Given the description of an element on the screen output the (x, y) to click on. 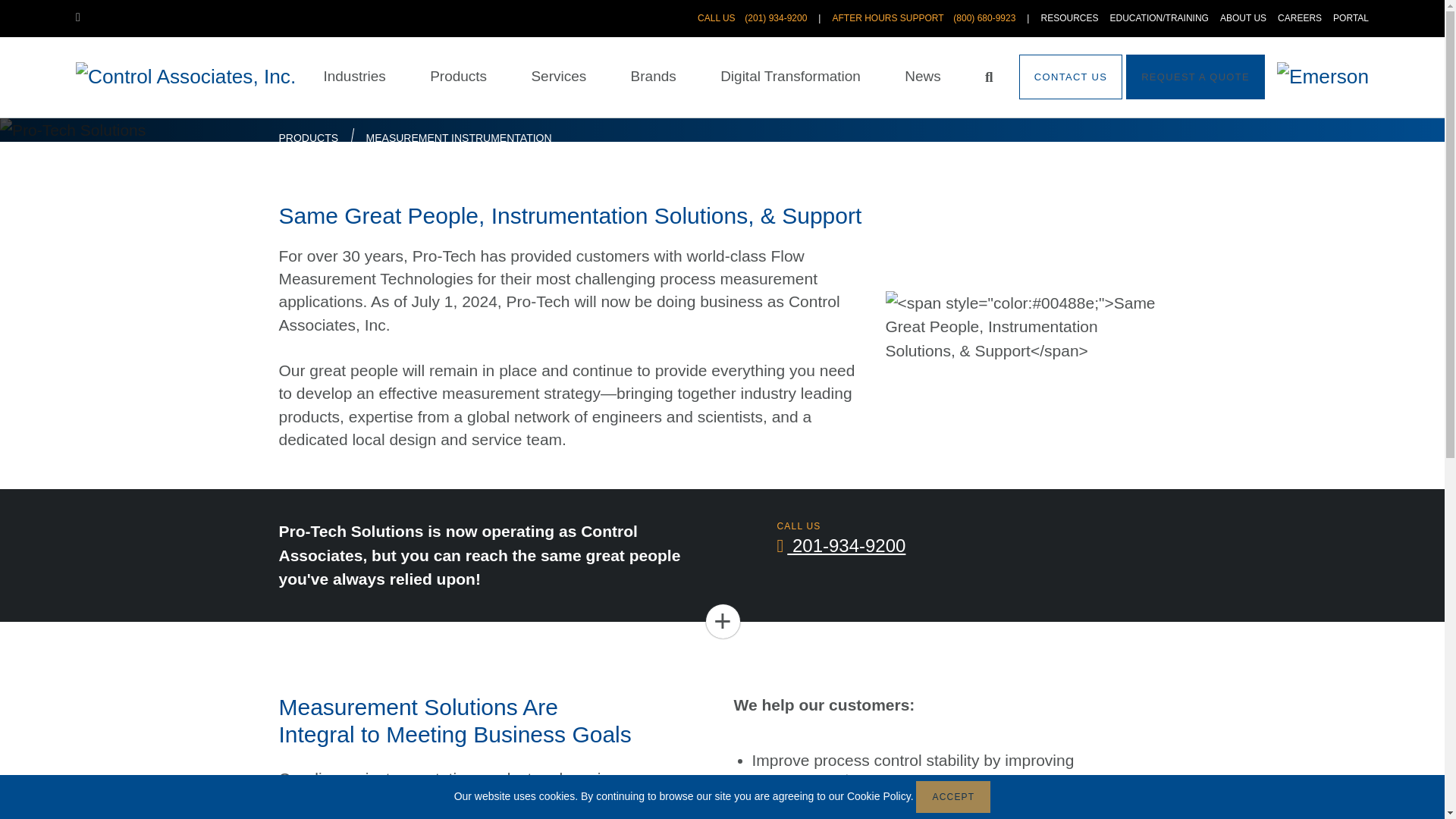
Control Associates, Inc. (185, 76)
REQUEST A QUOTE (1195, 76)
Portal (1350, 18)
Services (558, 76)
About Us (1243, 18)
PORTAL (1350, 18)
Linked in (82, 16)
Industries (354, 76)
Emerson (1322, 76)
CAREERS (1300, 18)
